Given the description of an element on the screen output the (x, y) to click on. 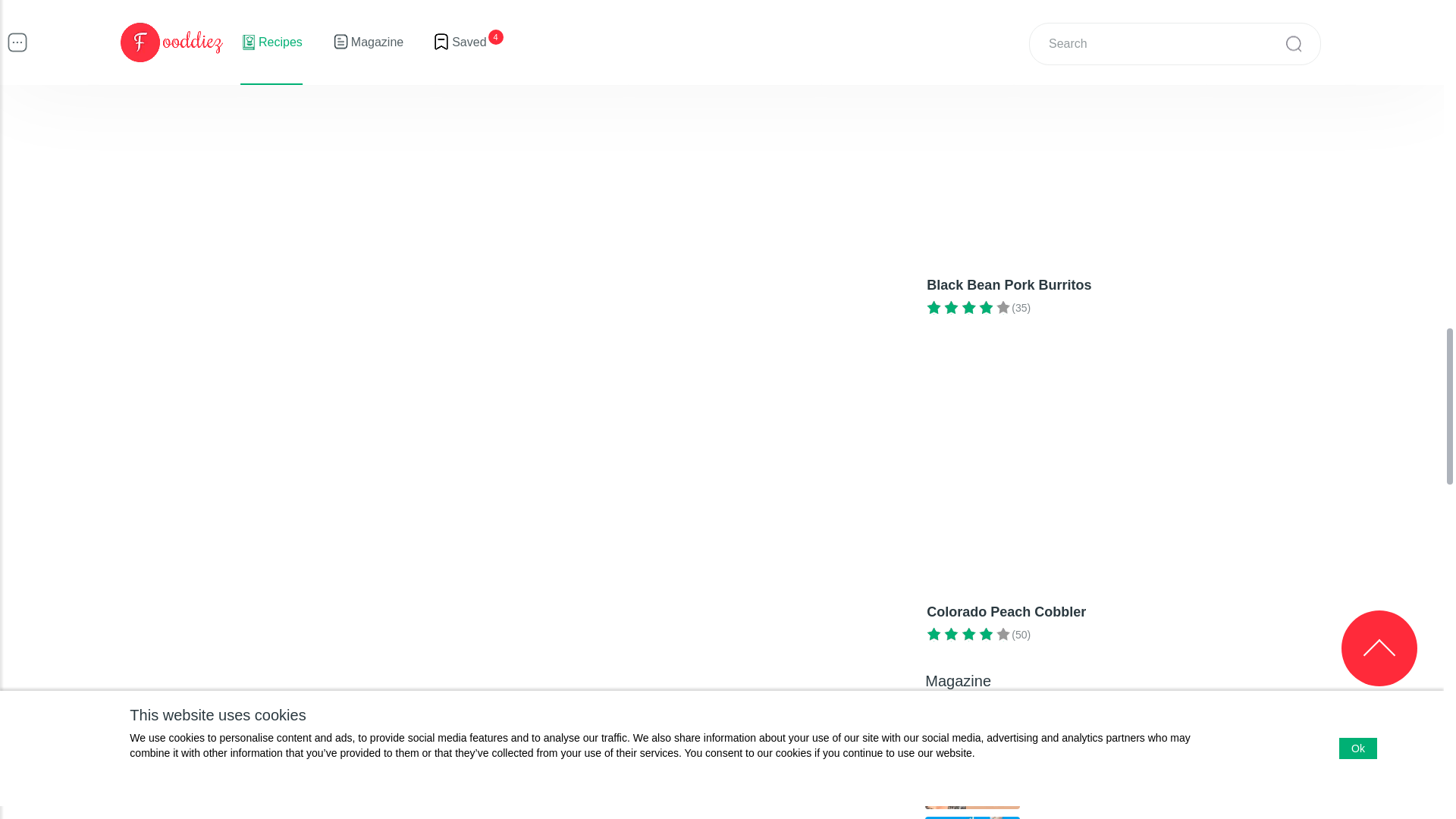
Colorado Peach Cobbler (1123, 500)
Black Bean Pork Burritos (1123, 174)
Recent (957, 712)
